Given the description of an element on the screen output the (x, y) to click on. 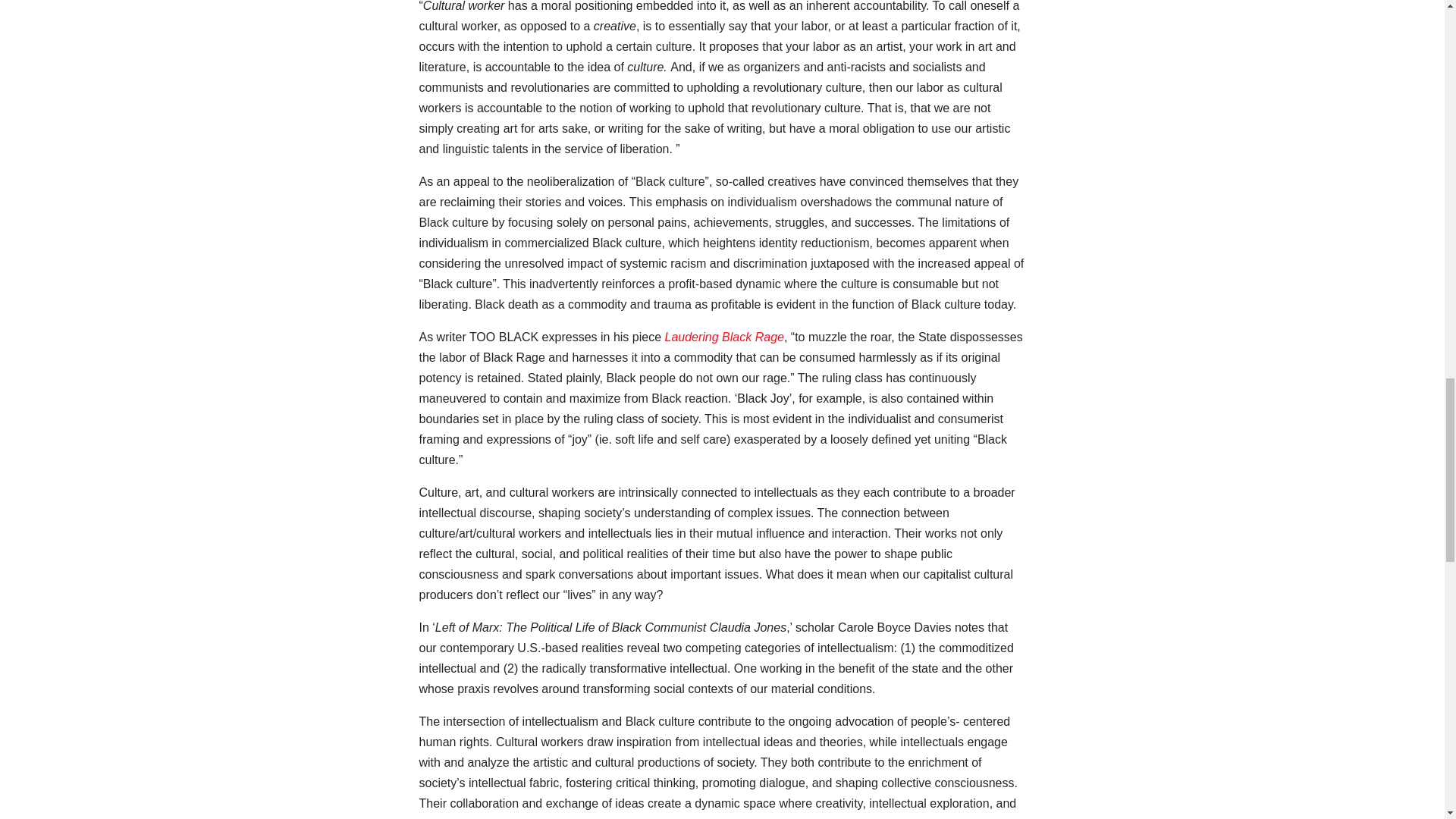
Laudering Black Rage (723, 336)
